Given the description of an element on the screen output the (x, y) to click on. 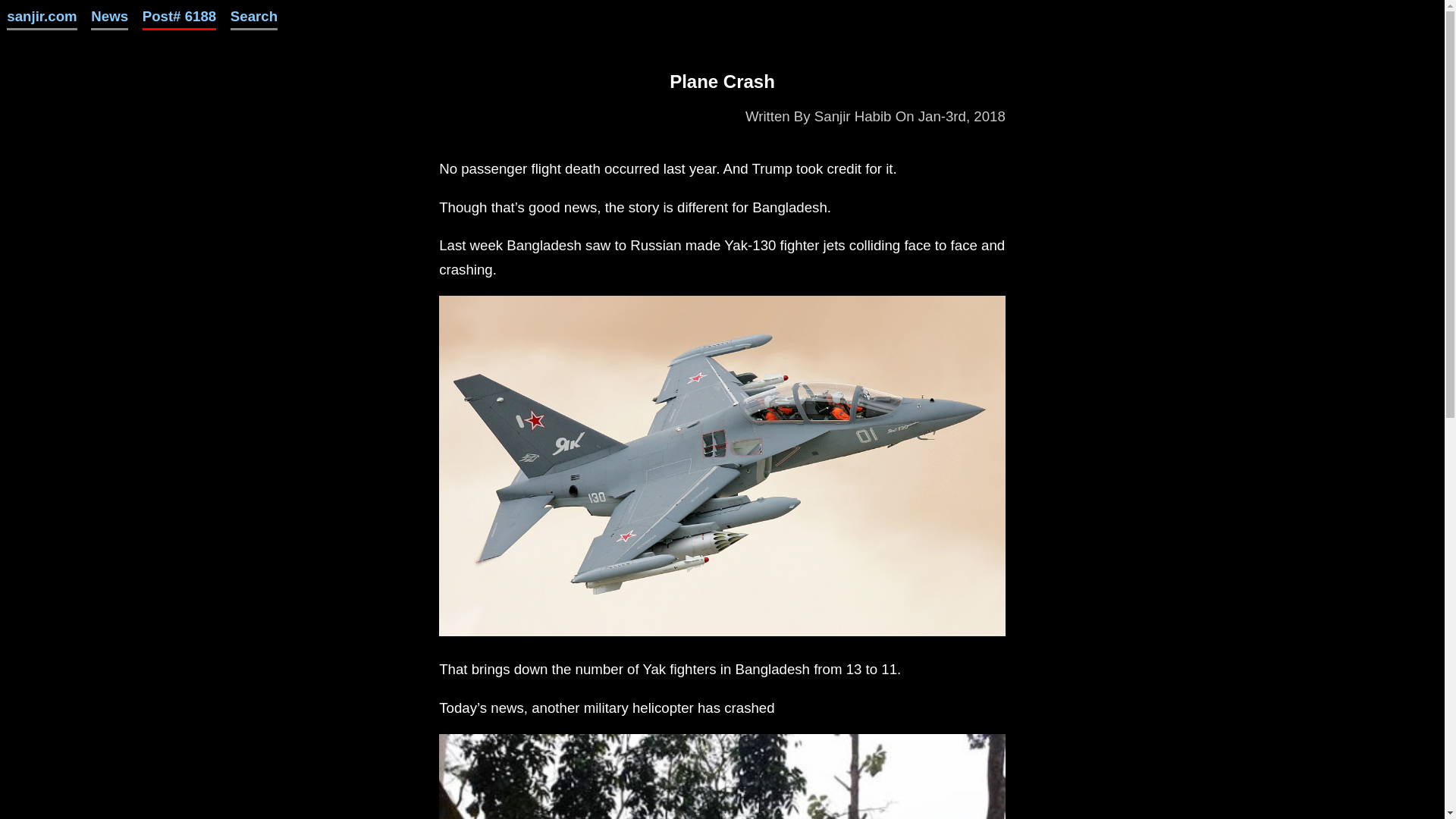
News (109, 15)
Search (254, 15)
sanjir.com (42, 15)
